Given the description of an element on the screen output the (x, y) to click on. 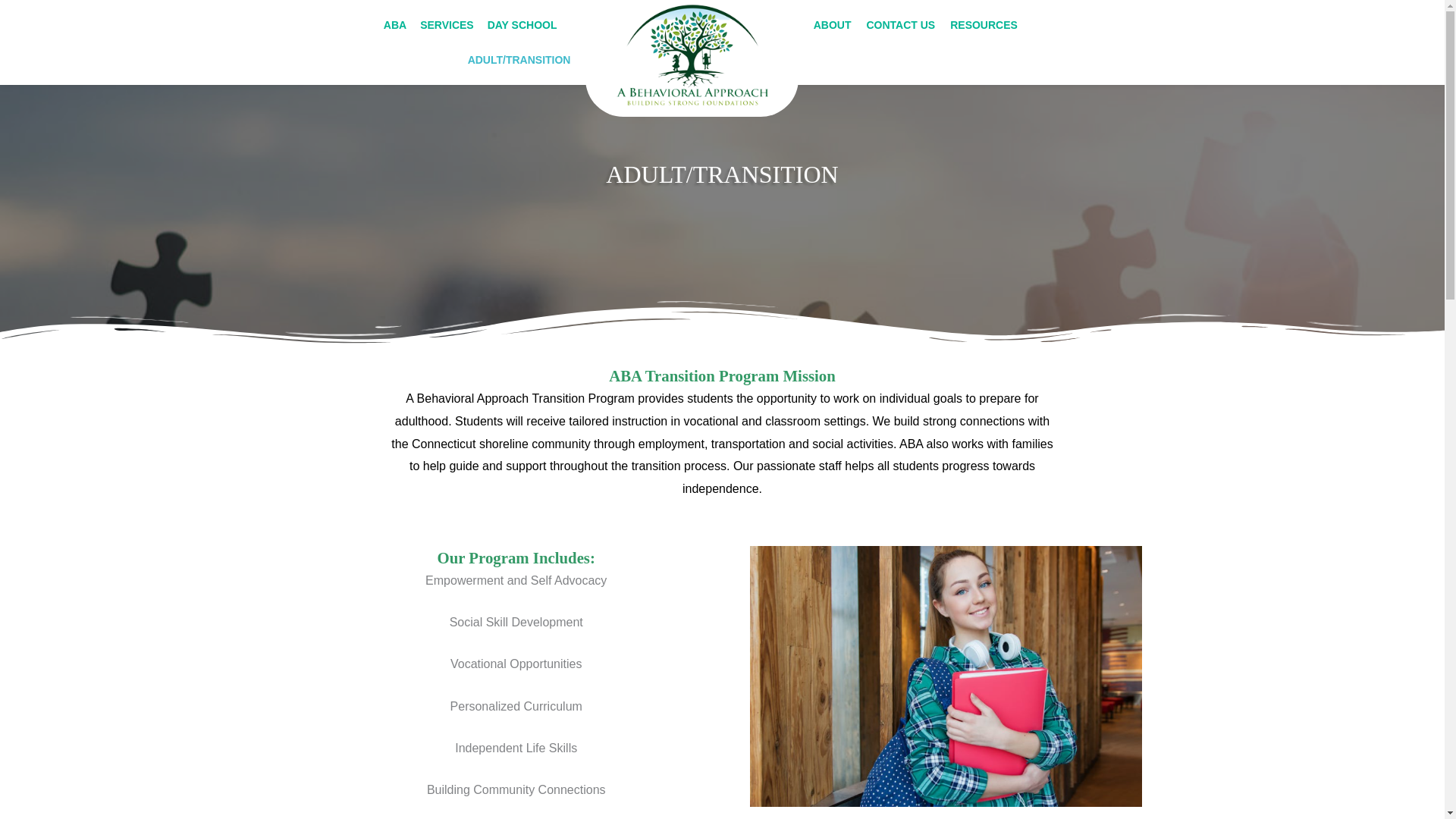
ABOUT (832, 24)
ABA (395, 24)
SERVICES (447, 24)
RESOURCES (983, 24)
DAY SCHOOL (522, 24)
CONTACT US (900, 24)
